Given the description of an element on the screen output the (x, y) to click on. 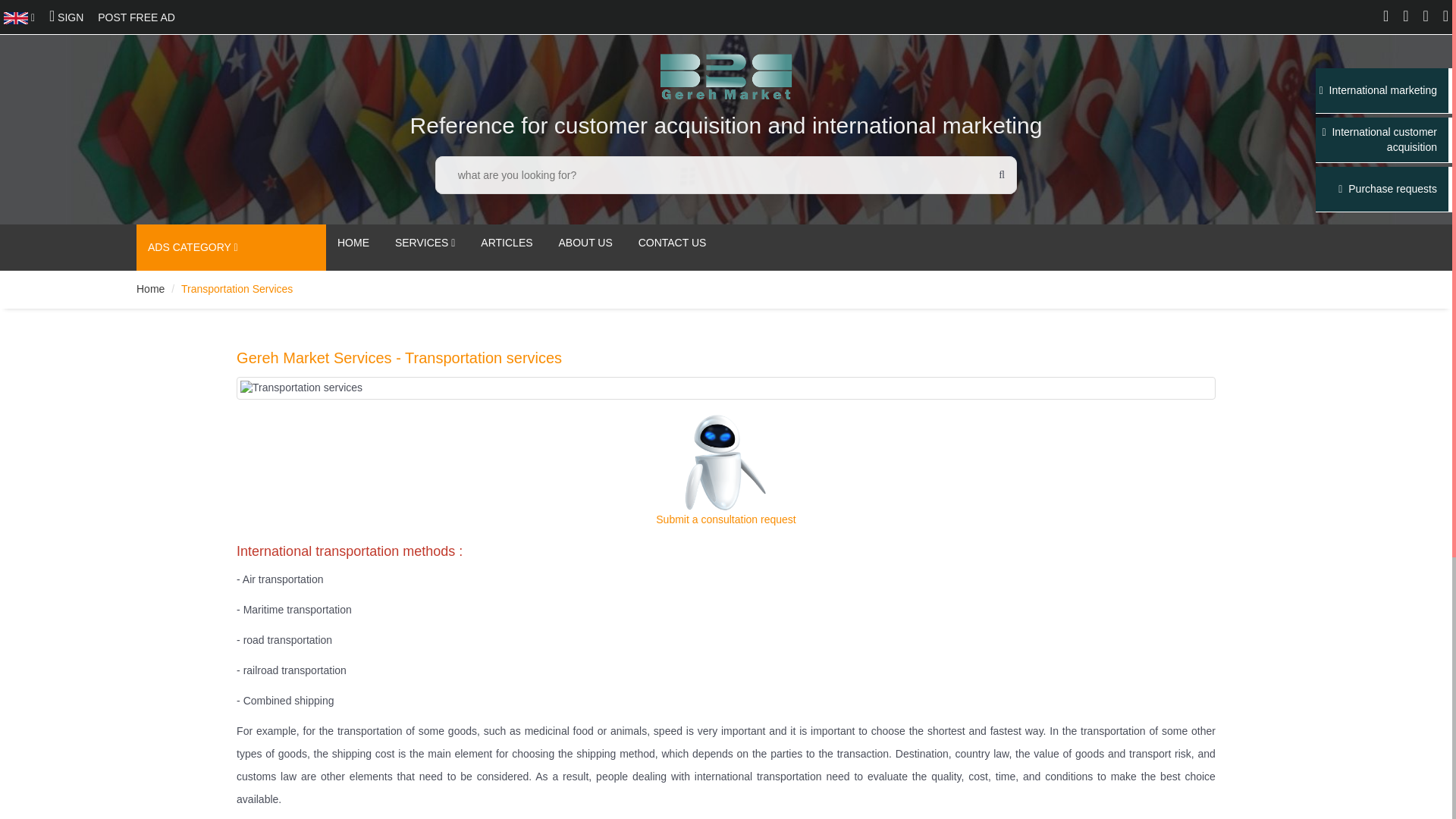
POST FREE AD (135, 17)
  International customer acquisition (1376, 140)
  International marketing (1378, 90)
  Purchase requests (1387, 189)
SIGN (65, 17)
